Given the description of an element on the screen output the (x, y) to click on. 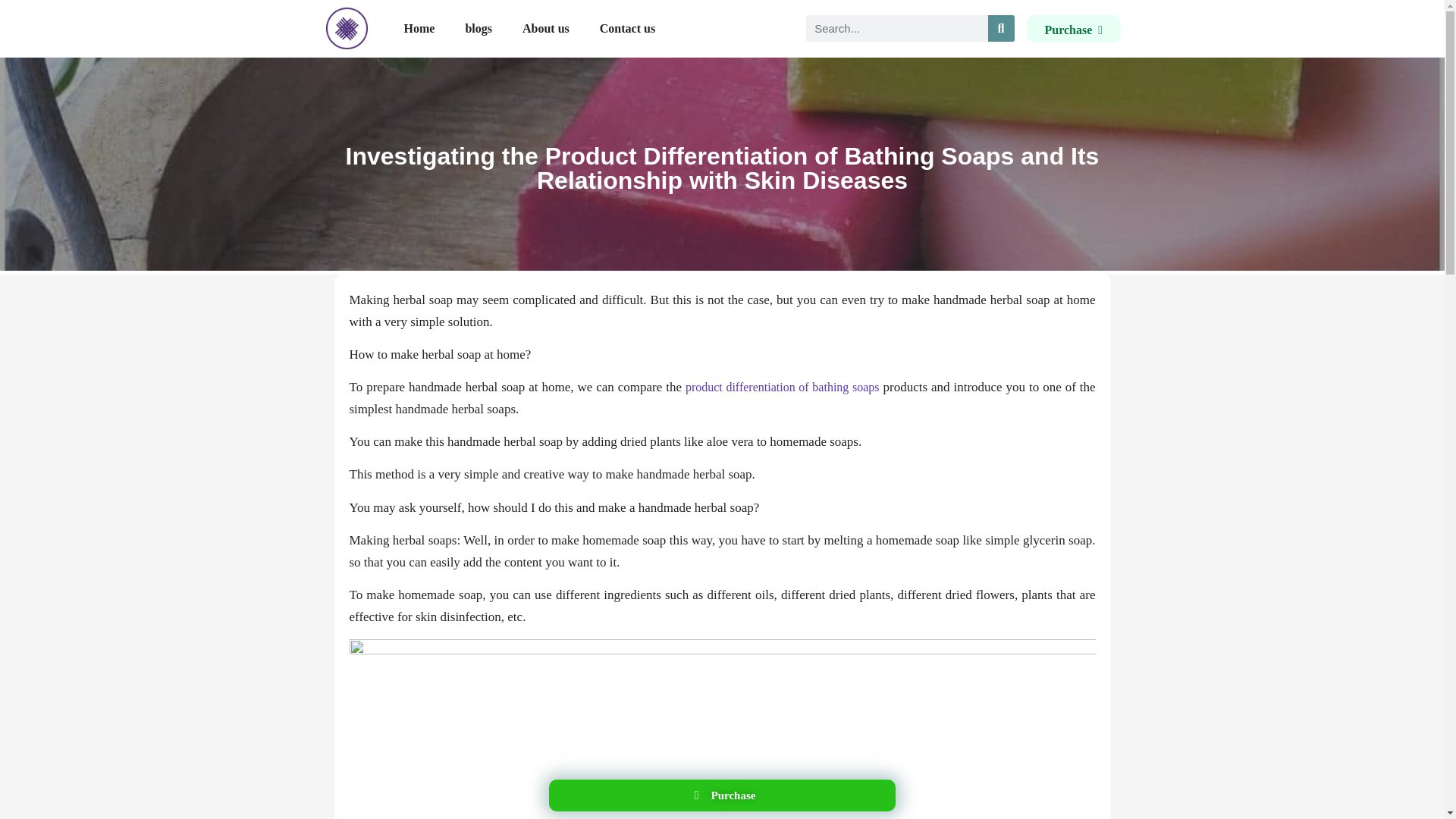
blogs (477, 27)
Home (418, 27)
product differentiation of bathing soaps (782, 386)
Contact us (627, 27)
Purchase (1073, 28)
About us (545, 27)
Purchase (722, 795)
